Given the description of an element on the screen output the (x, y) to click on. 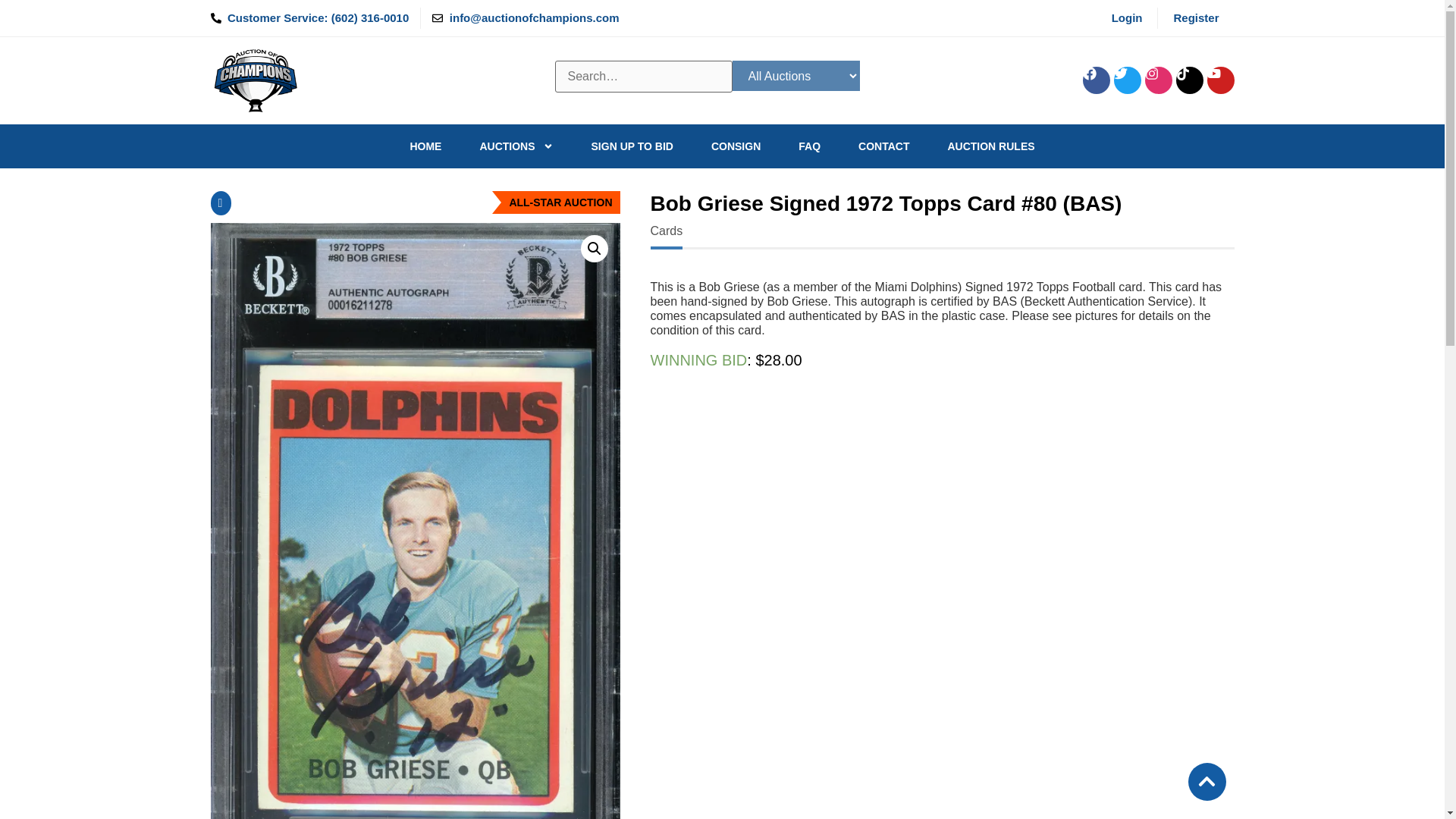
Register (1195, 17)
AUCTIONS (515, 146)
HOME (425, 146)
AUCTION RULES (990, 146)
Search (643, 76)
CONTACT (883, 146)
CONSIGN (735, 146)
Login (1127, 17)
FAQ (809, 146)
Select an Auction (796, 75)
